Given the description of an element on the screen output the (x, y) to click on. 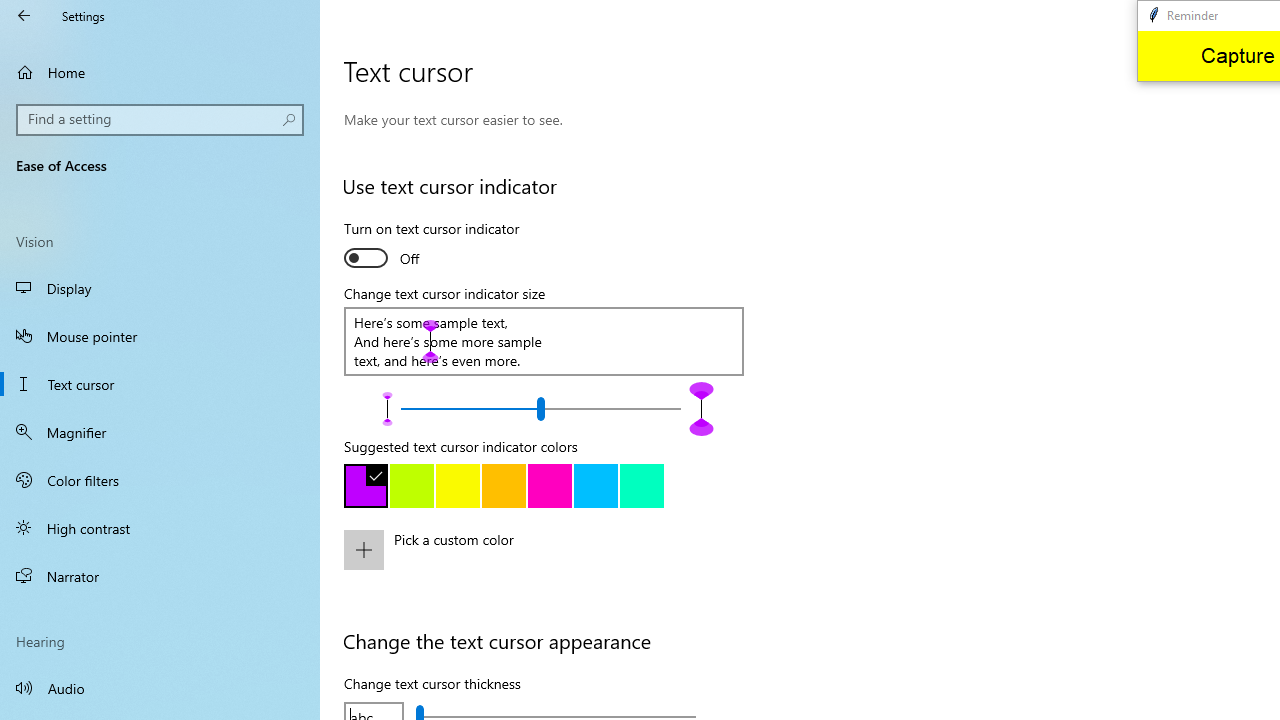
Audio (160, 687)
Purple (365, 485)
Back (24, 15)
Text cursor (160, 384)
Search box, Find a setting (160, 119)
Gold (504, 485)
